Given the description of an element on the screen output the (x, y) to click on. 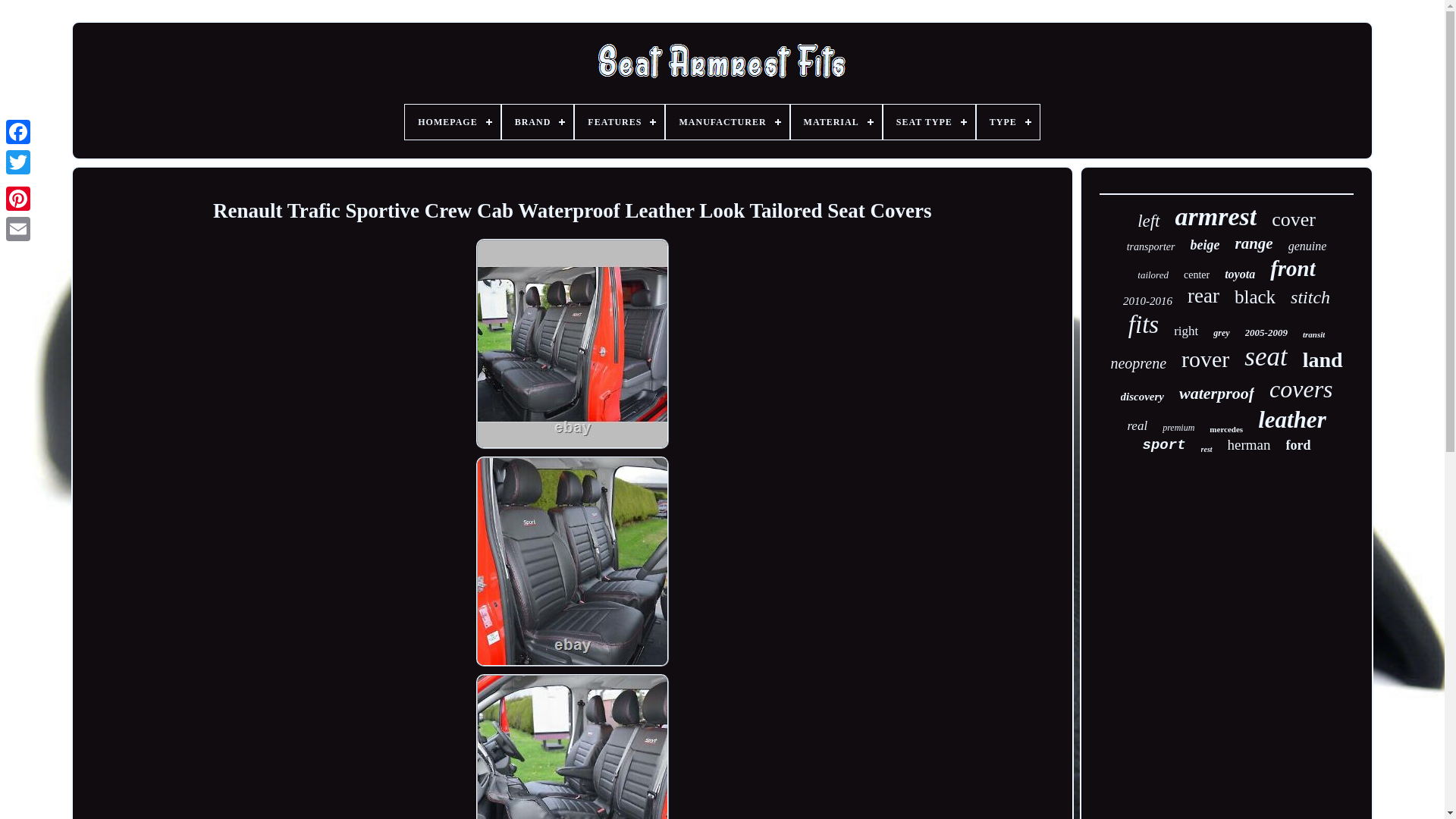
MANUFACTURER (727, 121)
FEATURES (619, 121)
HOMEPAGE (451, 121)
BRAND (537, 121)
